Given the description of an element on the screen output the (x, y) to click on. 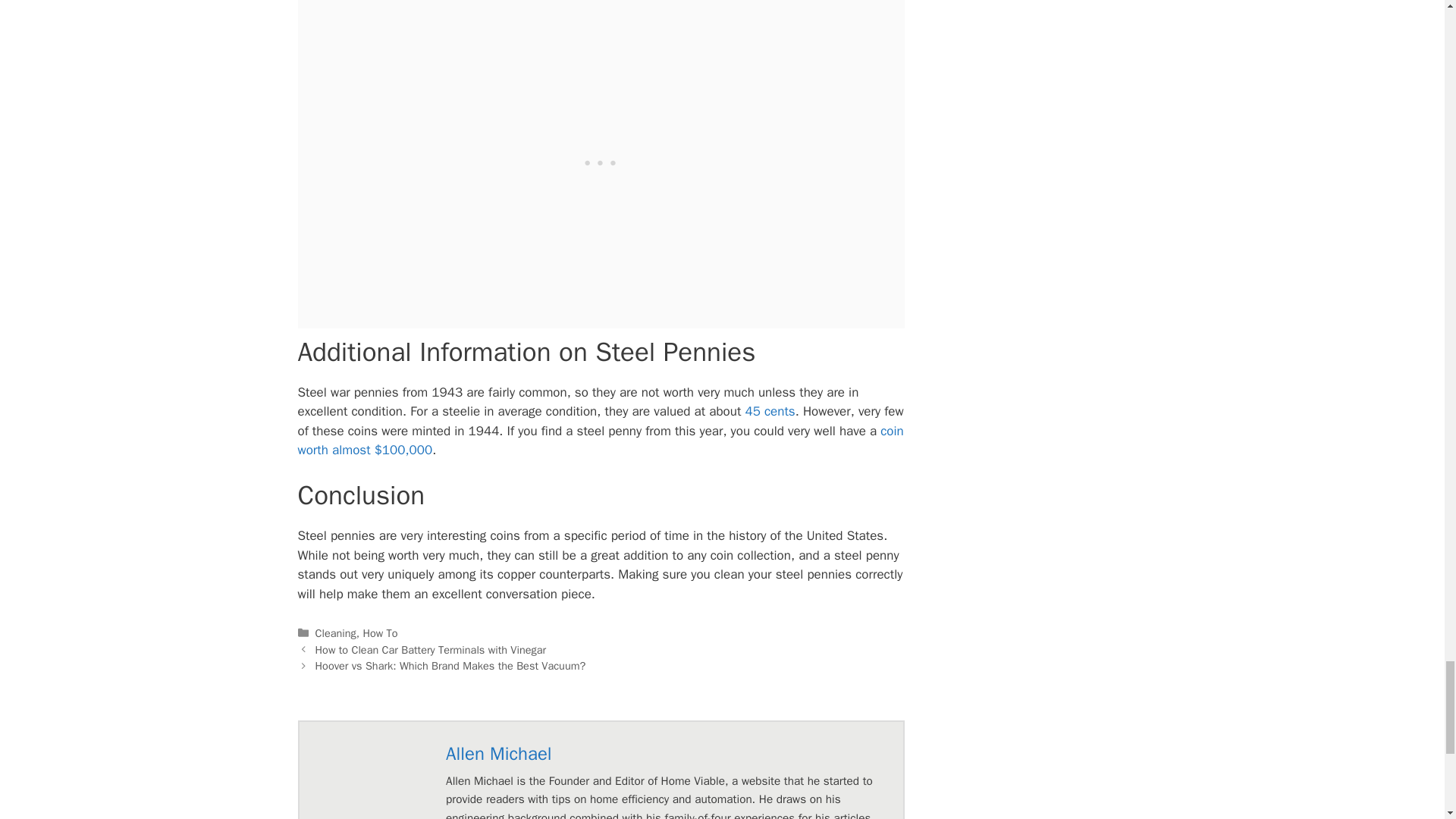
Cleaning (335, 632)
Author Links (498, 753)
How To (379, 632)
45 cents (767, 411)
